Given the description of an element on the screen output the (x, y) to click on. 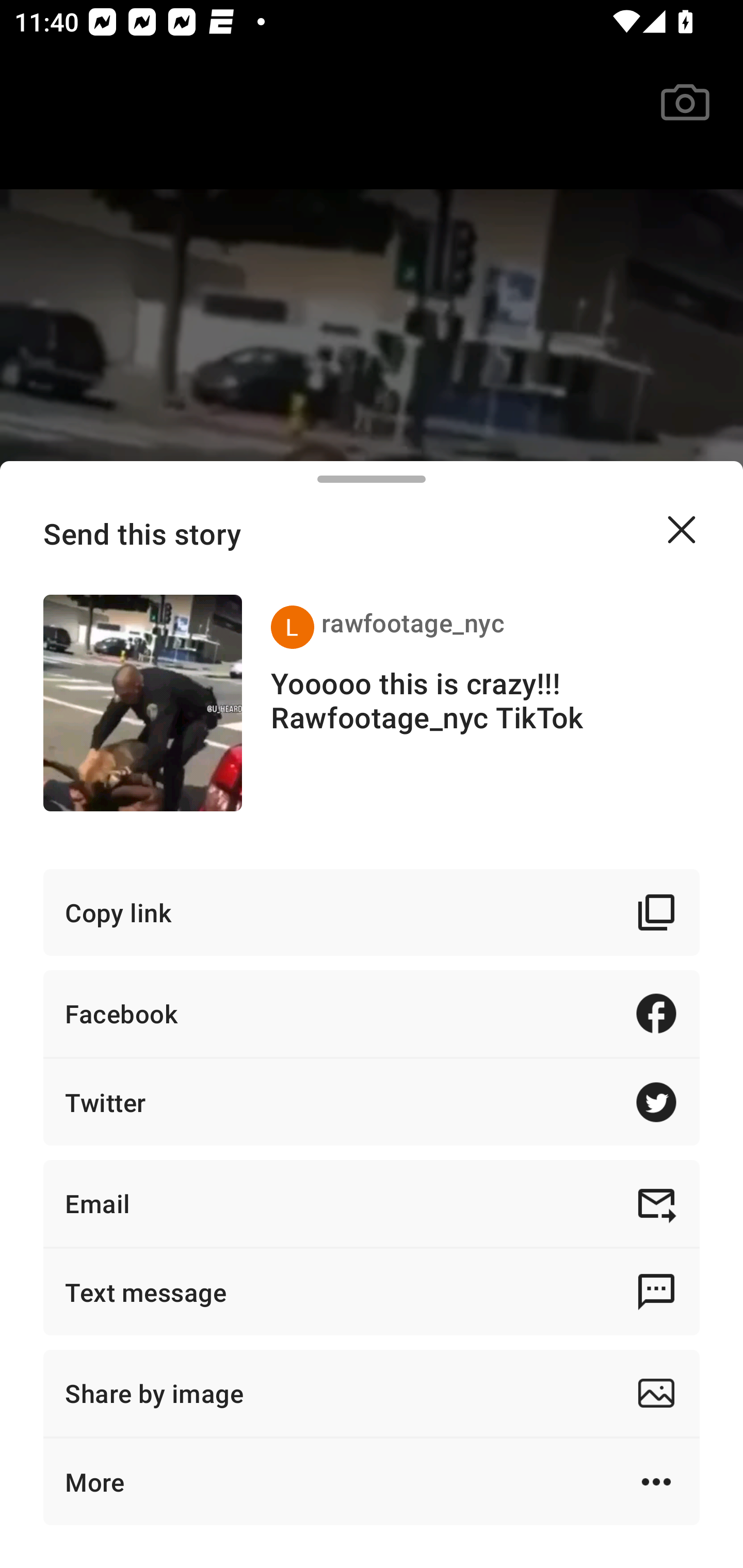
Copy link (371, 912)
Facebook (371, 1013)
Twitter (371, 1102)
Email (371, 1203)
Text message (371, 1291)
Share by image (371, 1393)
More (371, 1481)
